Given the description of an element on the screen output the (x, y) to click on. 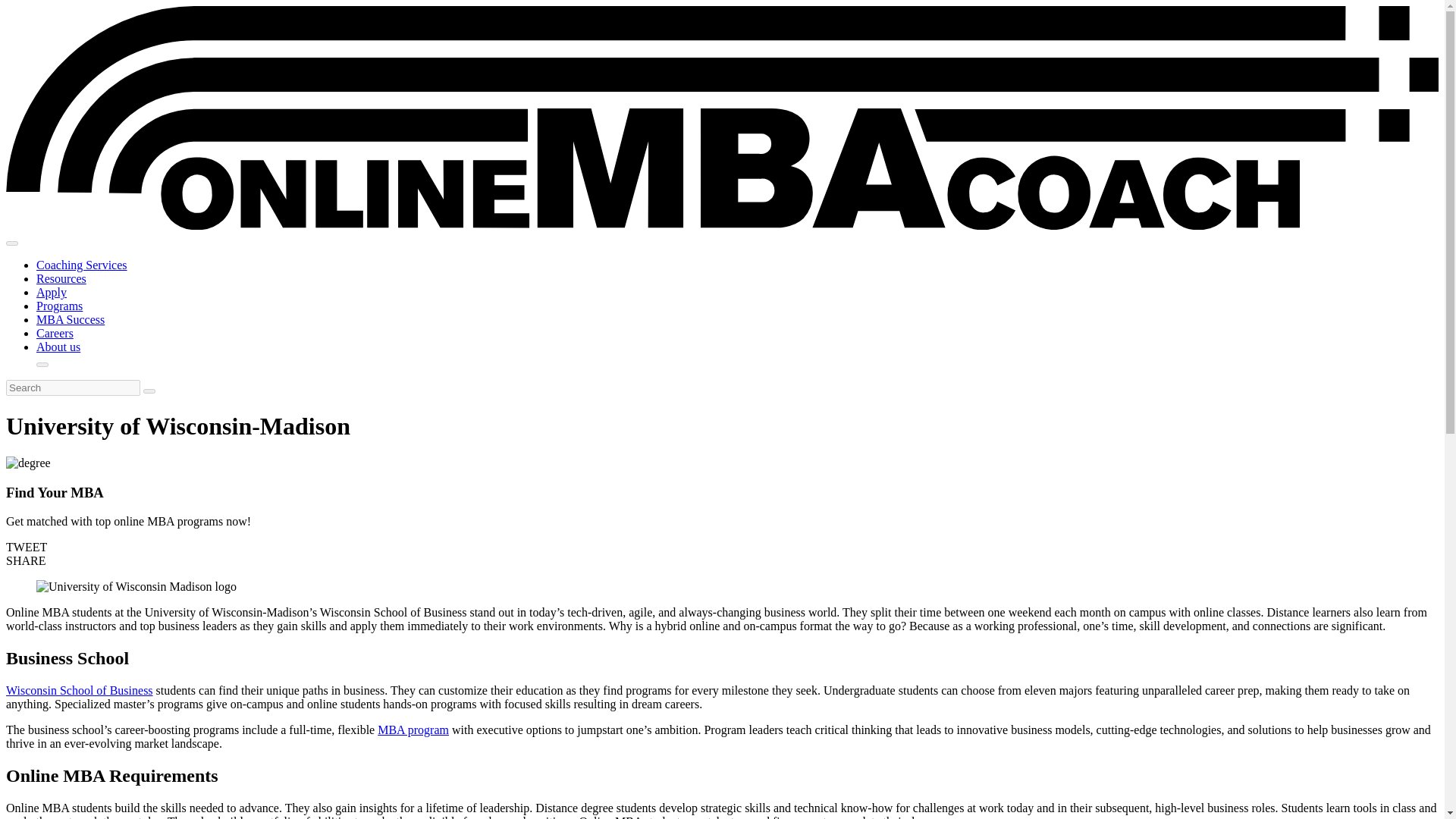
Coaching Services (82, 264)
Careers (55, 332)
MBA Success (70, 318)
About us (58, 346)
Programs (59, 305)
Apply (51, 291)
Resources (60, 278)
MBA program (412, 729)
Wisconsin School of Business (78, 689)
